Given the description of an element on the screen output the (x, y) to click on. 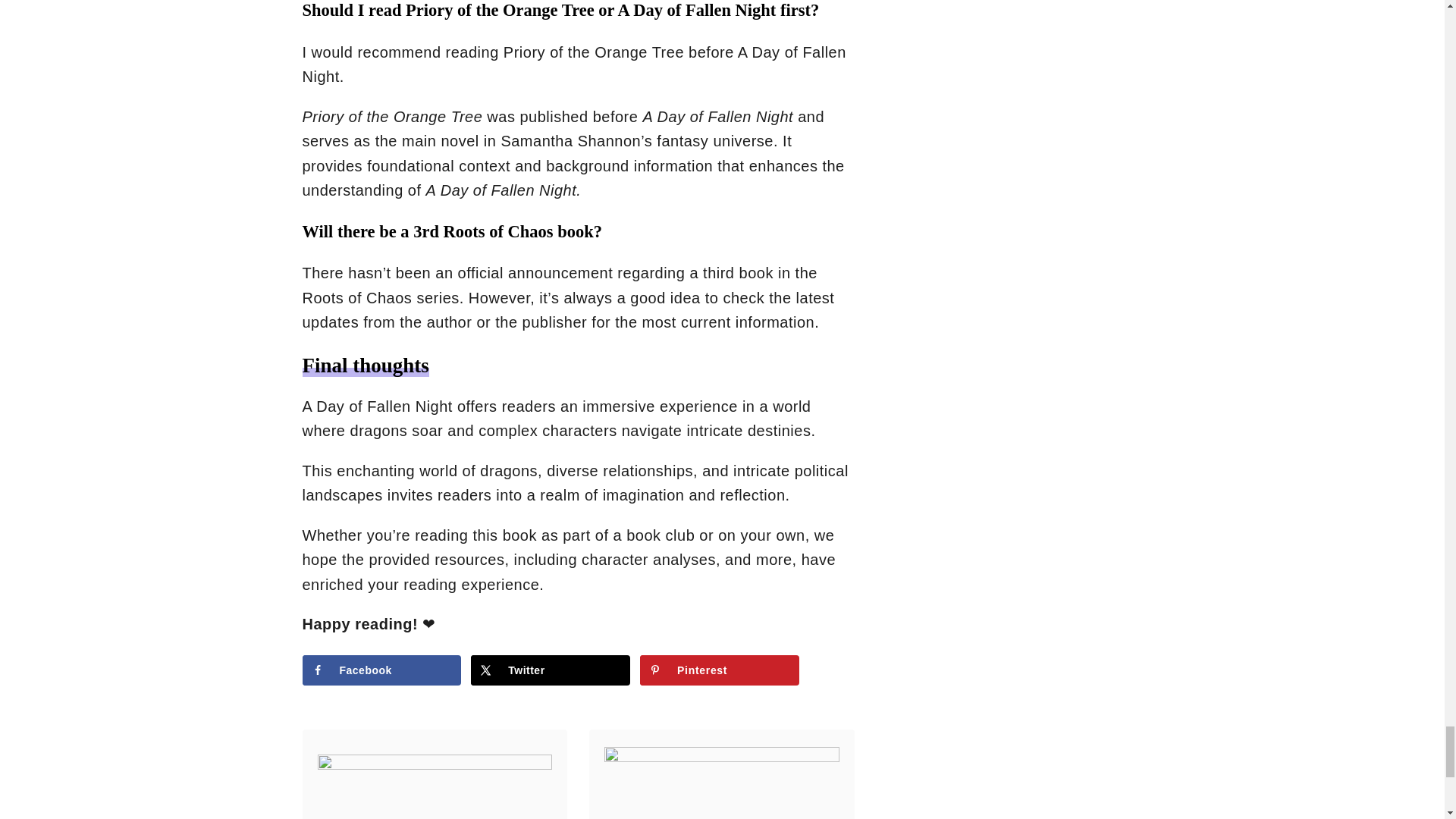
Share on Facebook (381, 670)
Save to Pinterest (719, 670)
Share on X (550, 670)
